Given the description of an element on the screen output the (x, y) to click on. 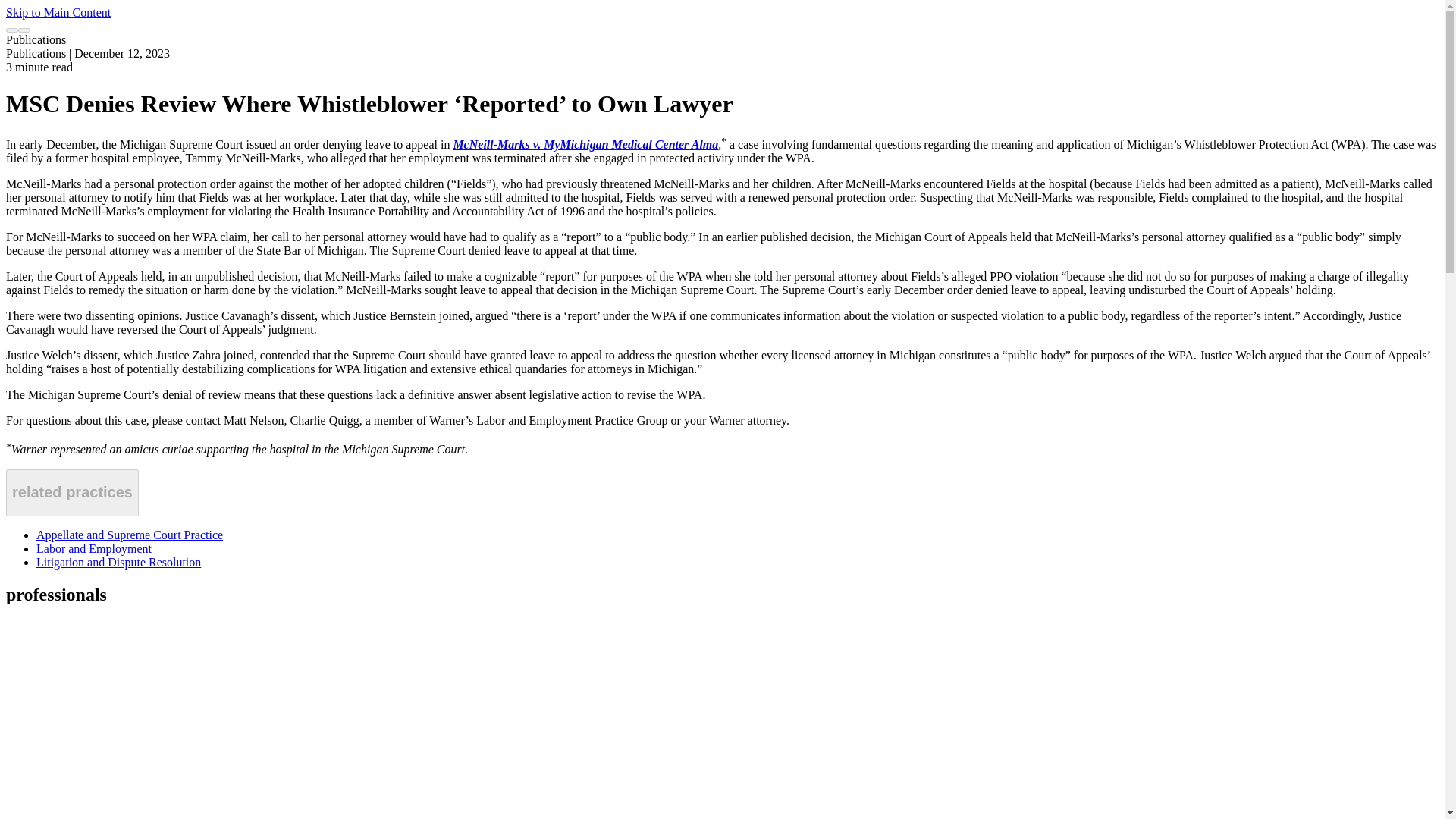
McNeill-Marks v. MyMichigan Medical Center Alma (584, 144)
Litigation and Dispute Resolution (118, 562)
related practices (71, 492)
Labor and Employment (93, 548)
Appellate and Supreme Court Practice (129, 534)
Skip to Main Content (57, 11)
